Given the description of an element on the screen output the (x, y) to click on. 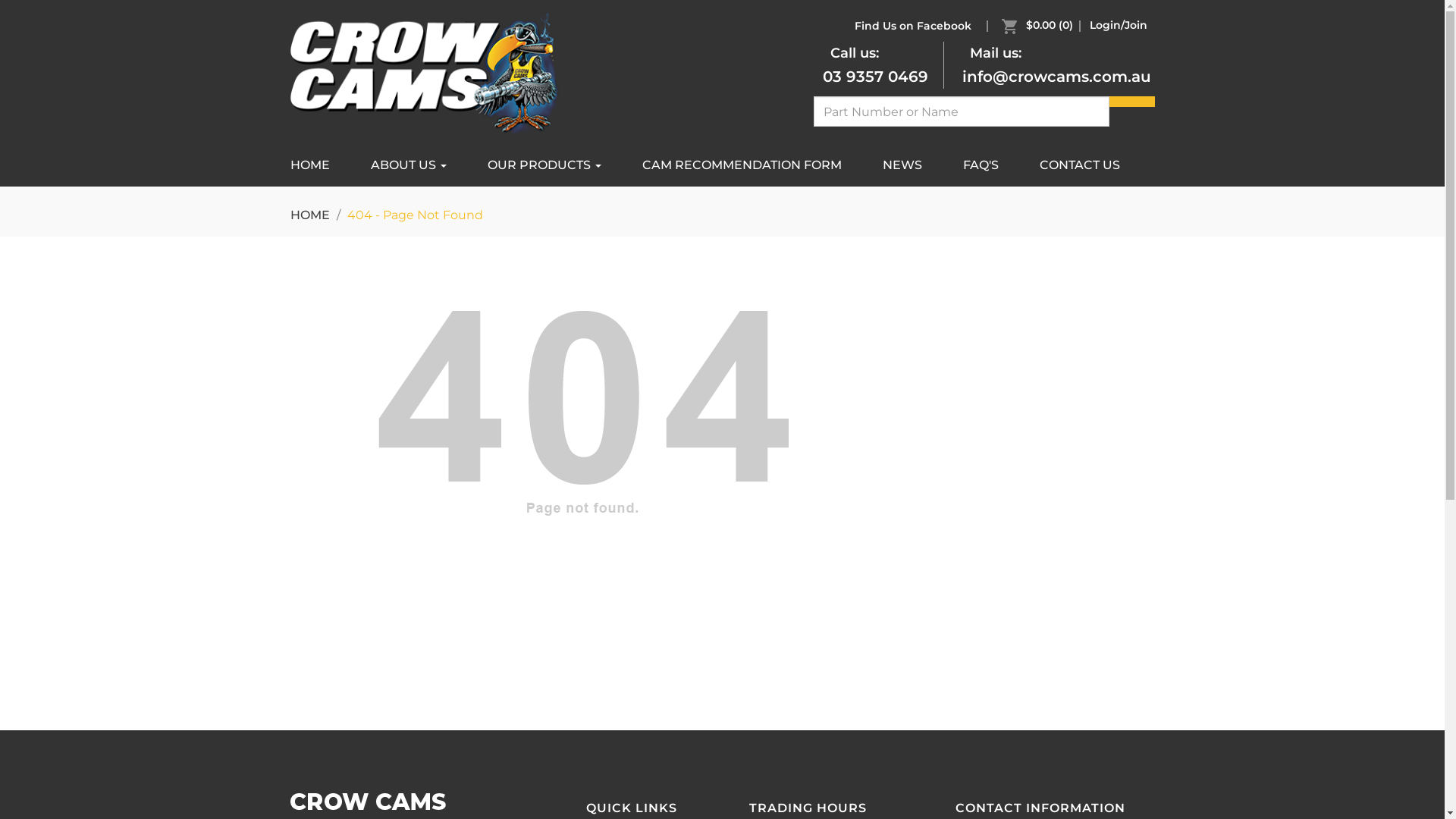
Find Us on Facebook Element type: text (911, 25)
NEWS Element type: text (901, 164)
$0.00 (0) Element type: text (1040, 24)
OUR PRODUCTS Element type: text (544, 164)
CAM RECOMMENDATION FORM Element type: text (741, 164)
CONTACT US Element type: text (1079, 164)
03 9357 0469 Element type: text (874, 76)
HOME Element type: text (309, 214)
ABOUT US Element type: text (408, 164)
FAQ'S Element type: text (979, 164)
info@crowcams.com.au Element type: text (1055, 76)
HOME Element type: text (318, 164)
Login/Join Element type: text (1117, 24)
